Given the description of an element on the screen output the (x, y) to click on. 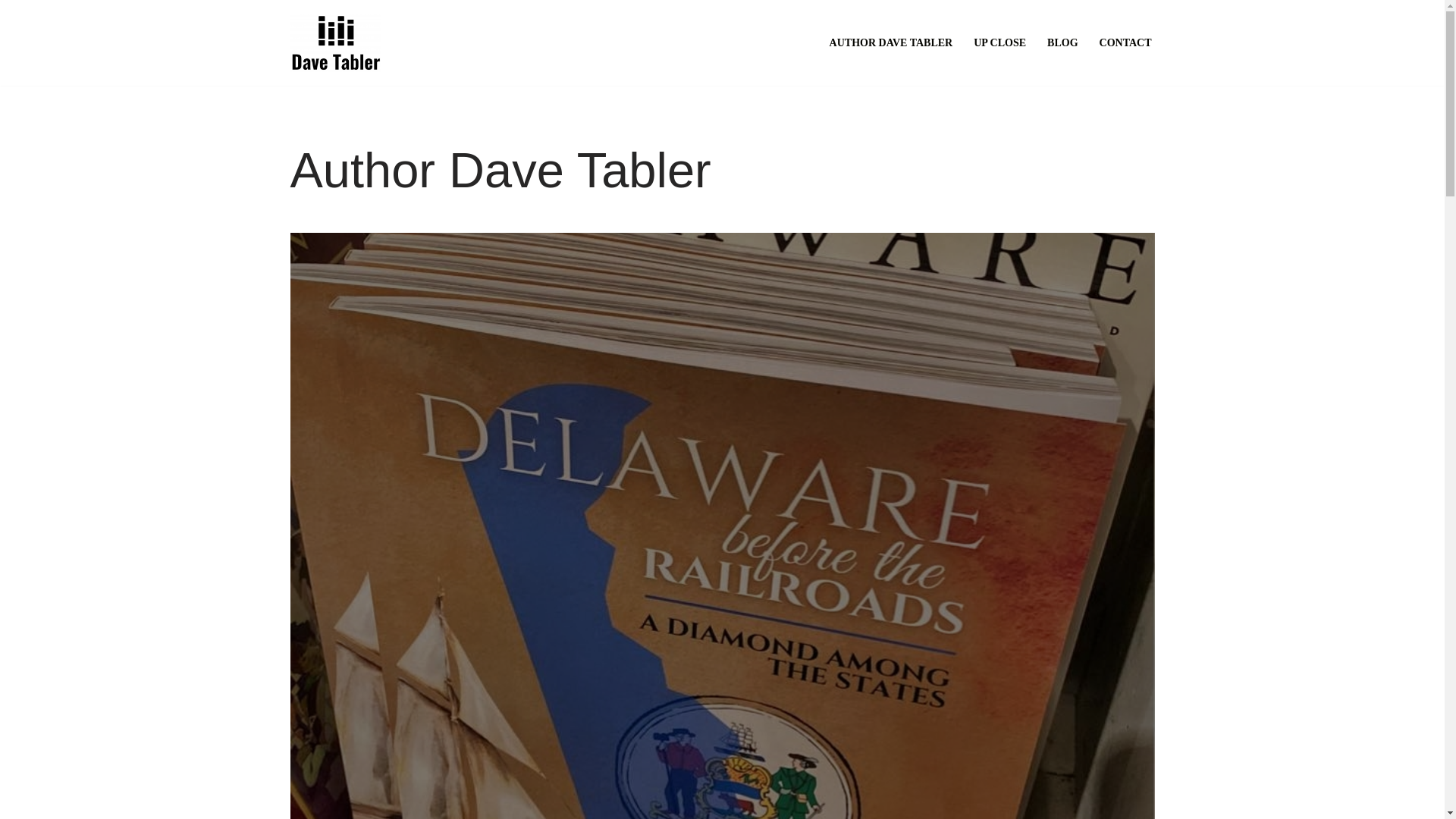
AUTHOR DAVE TABLER (891, 42)
UP CLOSE (1000, 42)
Skip to content (11, 31)
BLOG (1061, 42)
CONTACT (1125, 42)
